Given the description of an element on the screen output the (x, y) to click on. 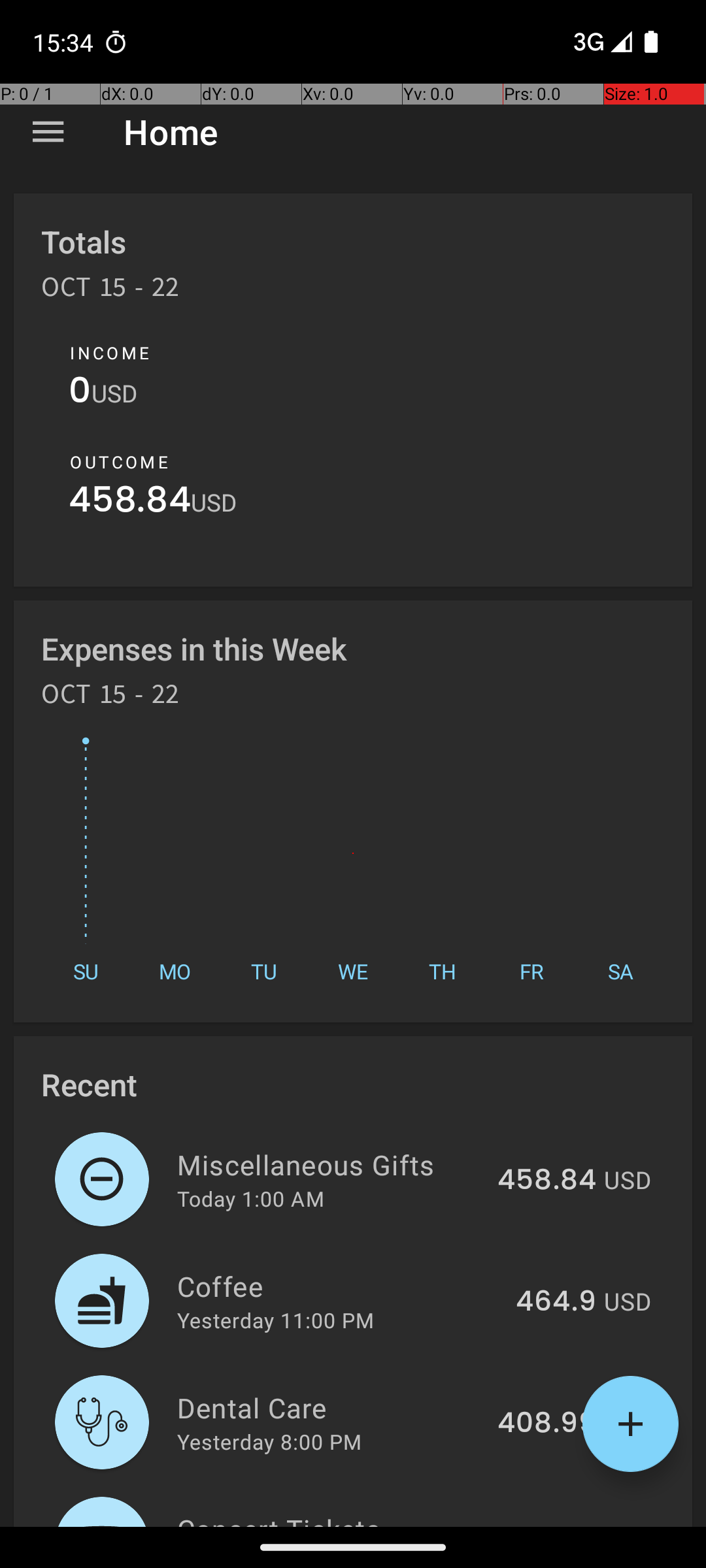
458.84 Element type: android.widget.TextView (129, 502)
Miscellaneous Gifts Element type: android.widget.TextView (329, 1164)
Today 1:00 AM Element type: android.widget.TextView (250, 1198)
Coffee Element type: android.widget.TextView (338, 1285)
Yesterday 11:00 PM Element type: android.widget.TextView (275, 1320)
464.9 Element type: android.widget.TextView (555, 1301)
Dental Care Element type: android.widget.TextView (329, 1407)
Yesterday 8:00 PM Element type: android.widget.TextView (269, 1441)
408.99 Element type: android.widget.TextView (546, 1423)
Concert Tickets Element type: android.widget.TextView (342, 1518)
81.65 Element type: android.widget.TextView (559, 1524)
